Given the description of an element on the screen output the (x, y) to click on. 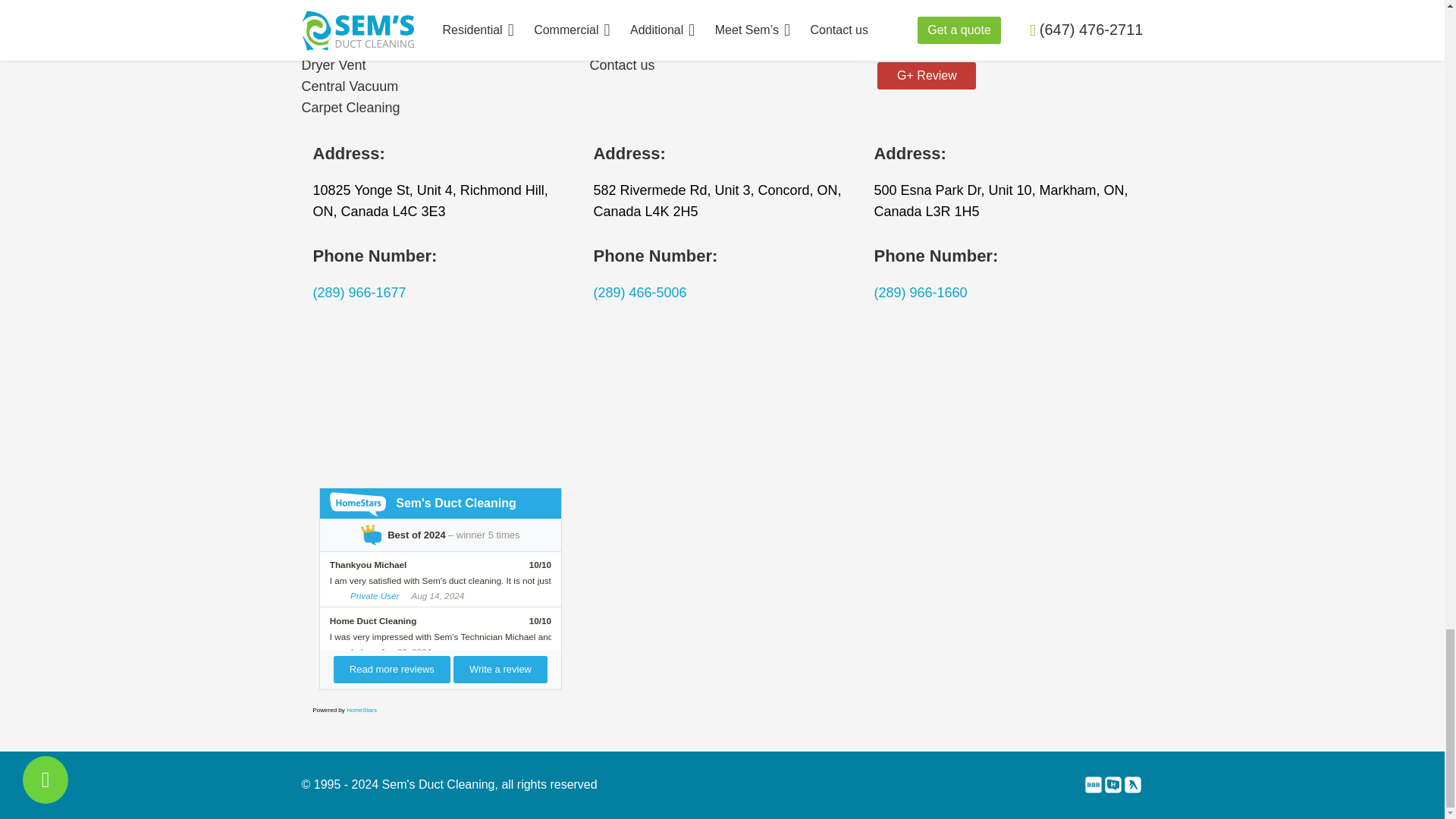
Yellow Pages (1132, 786)
Homestars (1113, 786)
BBB (1093, 786)
